Given the description of an element on the screen output the (x, y) to click on. 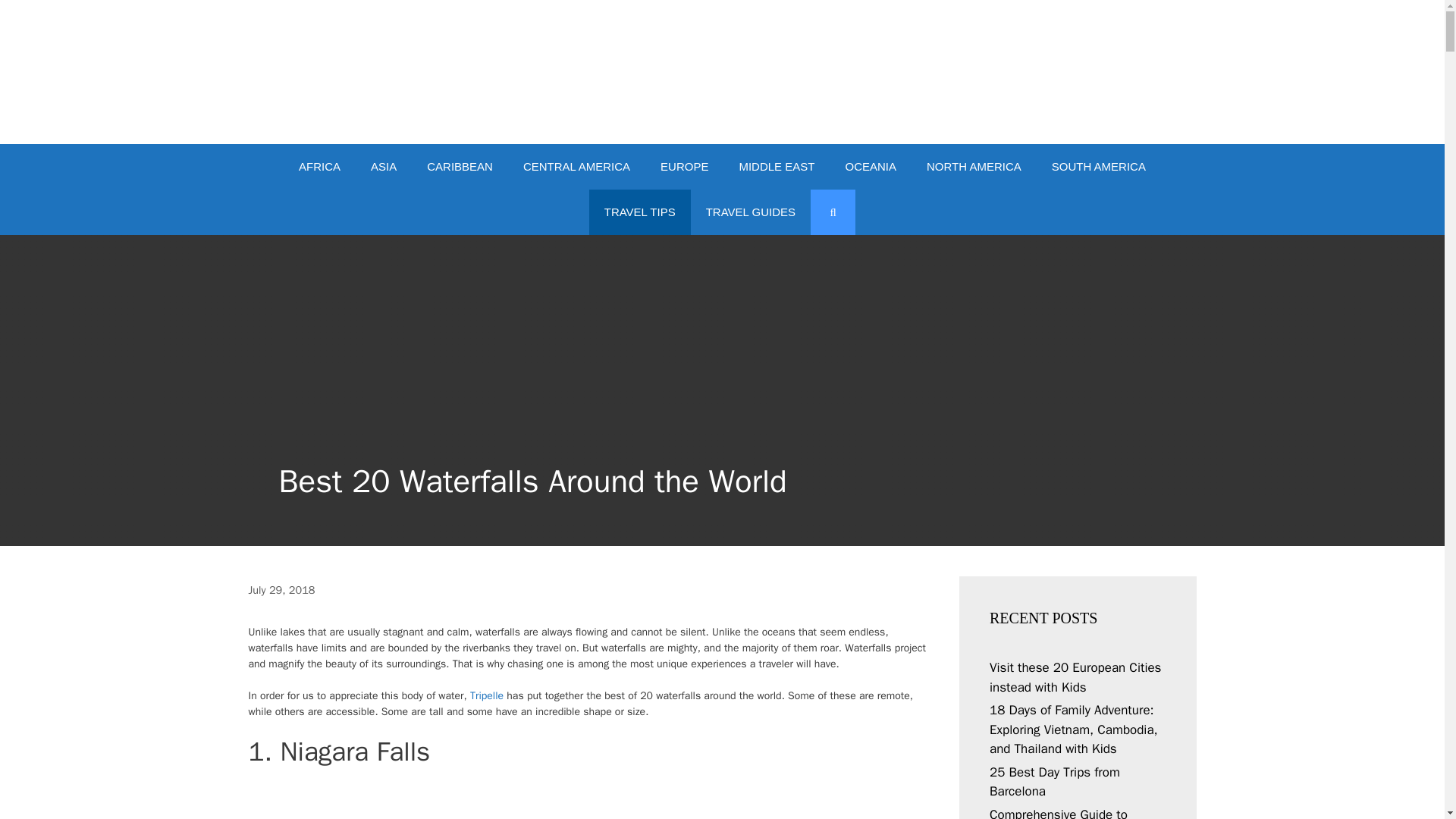
NORTH AMERICA (973, 166)
CENTRAL AMERICA (576, 166)
SOUTH AMERICA (1098, 166)
OCEANIA (870, 166)
Tripelle (486, 695)
CARIBBEAN (460, 166)
EUROPE (684, 166)
AFRICA (319, 166)
TRAVEL GUIDES (750, 212)
ASIA (383, 166)
TRAVEL TIPS (639, 212)
MIDDLE EAST (776, 166)
